Given the description of an element on the screen output the (x, y) to click on. 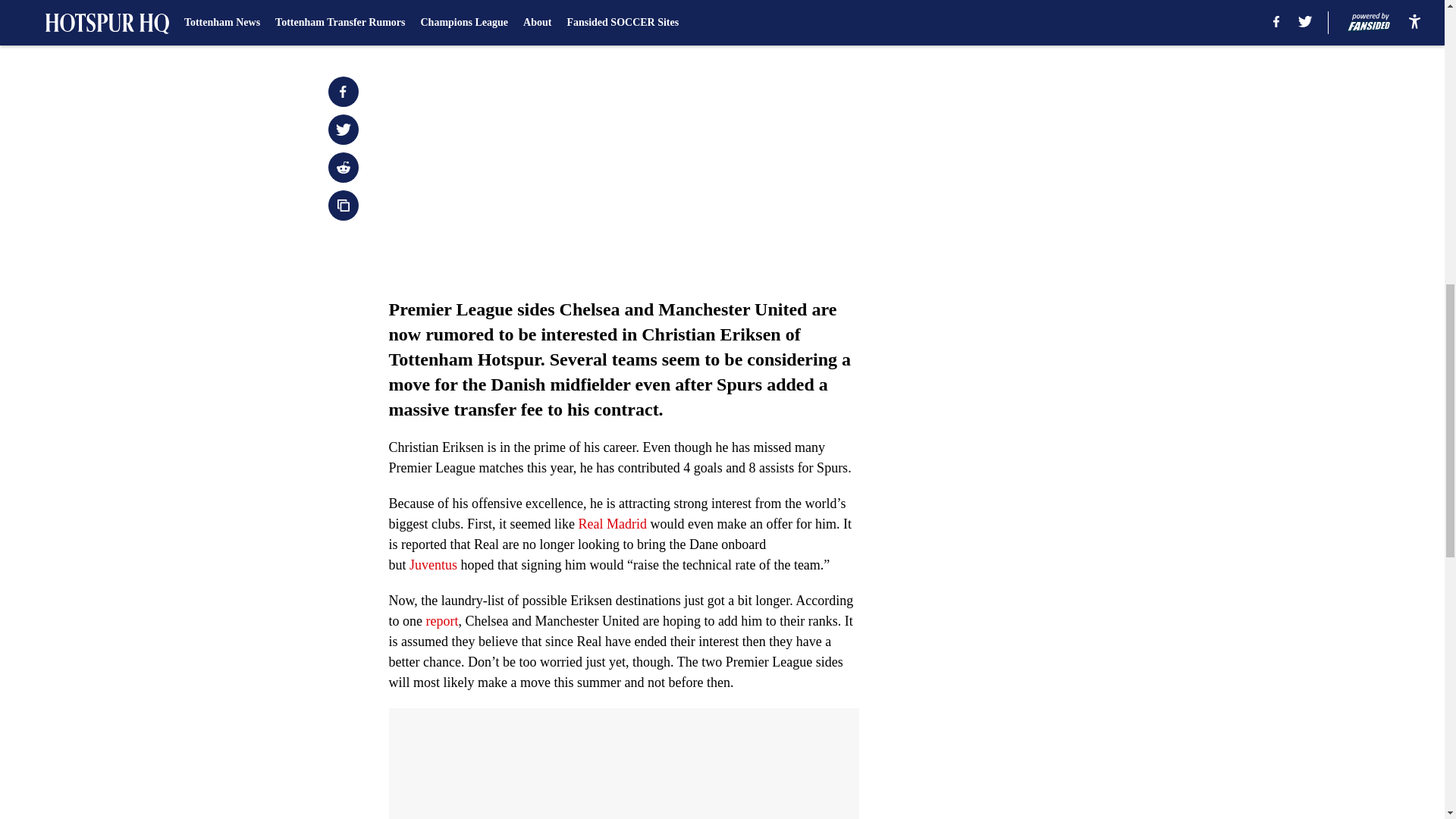
report (442, 620)
Real Madrid (612, 523)
Juventus (433, 564)
